Given the description of an element on the screen output the (x, y) to click on. 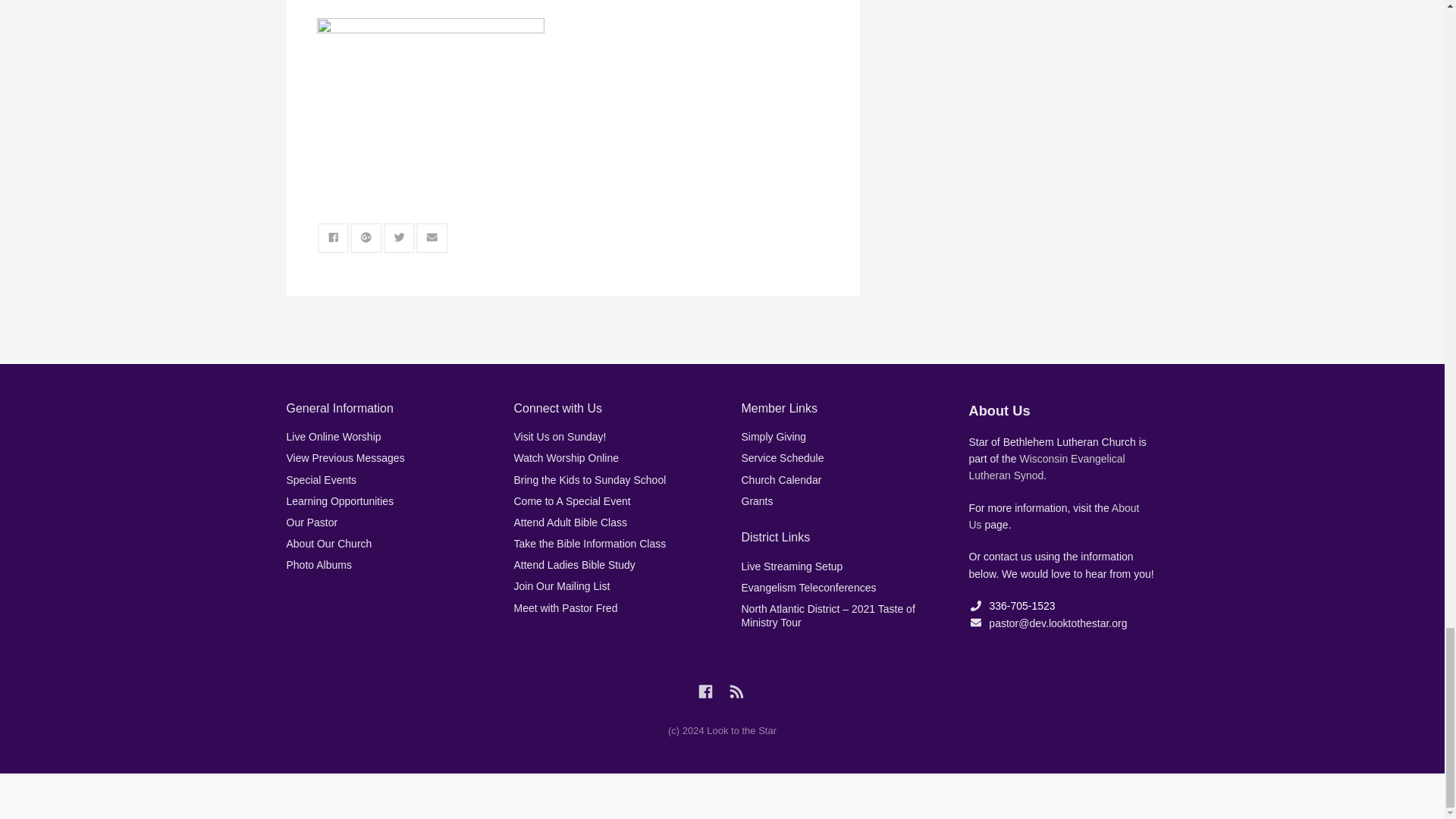
Special Events (321, 480)
Our Pastor (311, 522)
Learning Opportunities (340, 500)
Live Online Worship (333, 436)
View Previous Messages (345, 458)
